Given the description of an element on the screen output the (x, y) to click on. 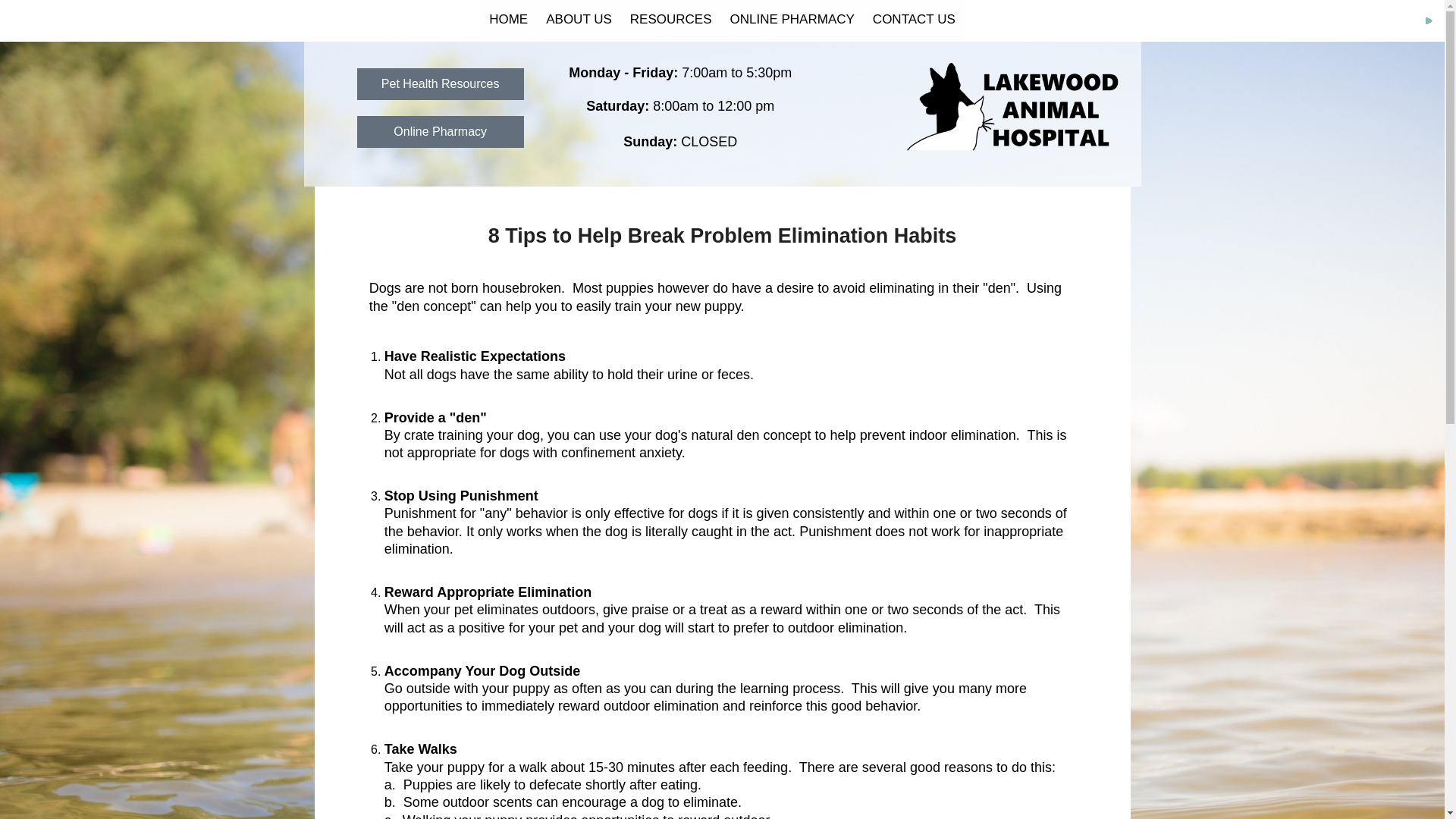
ABOUT US (579, 19)
Lakewood Animal Hospital Logo (1015, 107)
HOME (508, 19)
Lakewood Animal Hospital Logo (1015, 107)
